Given the description of an element on the screen output the (x, y) to click on. 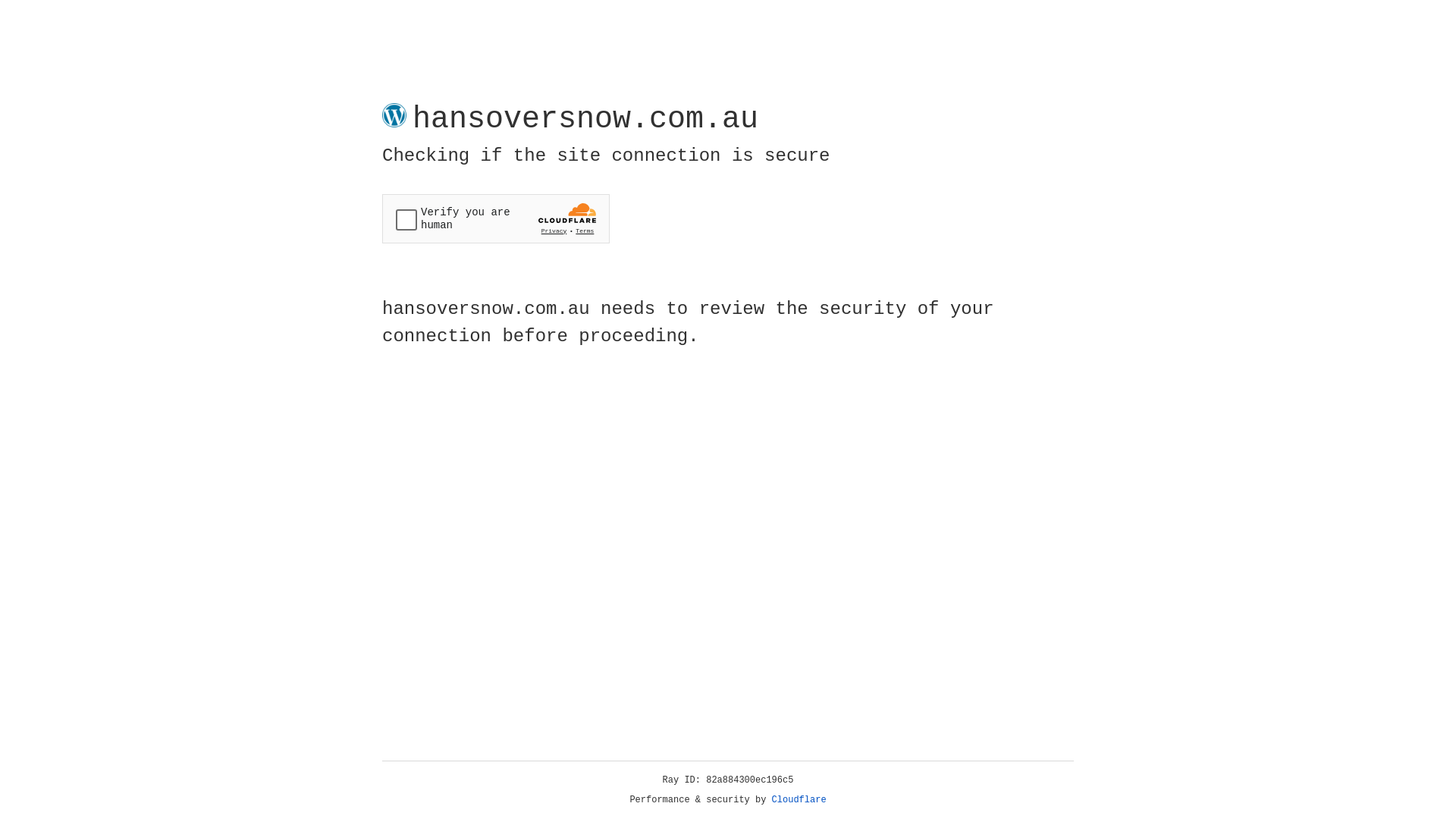
Cloudflare Element type: text (798, 799)
Widget containing a Cloudflare security challenge Element type: hover (495, 218)
